Given the description of an element on the screen output the (x, y) to click on. 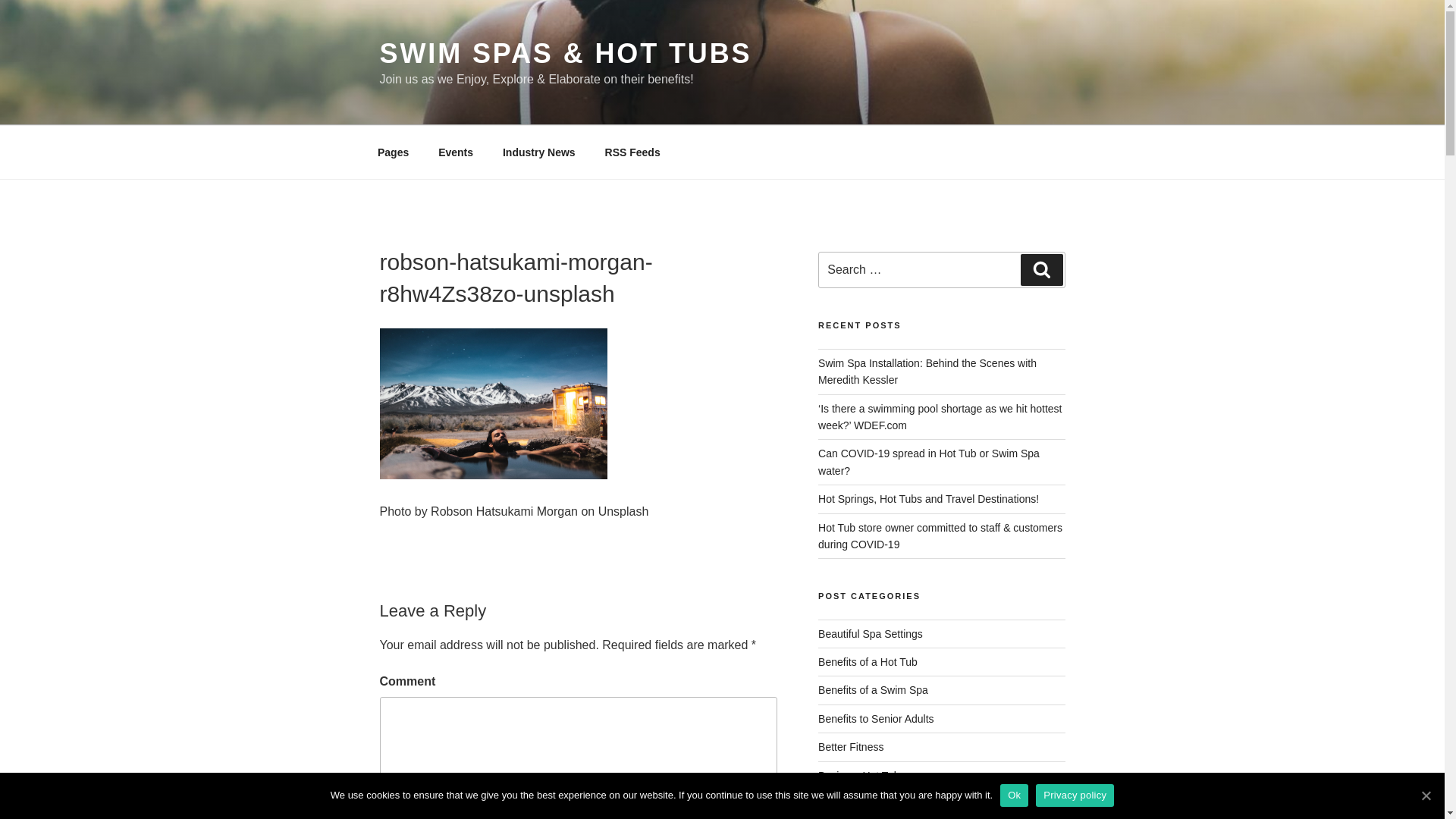
Better Fitness (850, 746)
Benefits of a Hot Tub (867, 662)
Benefits of a Swim Spa (873, 689)
Can COVID-19 spread in Hot Tub or Swim Spa water? (928, 461)
Benefits to Senior Adults (876, 718)
Search (1041, 269)
Buying a Hot Tub (858, 775)
Pages (393, 151)
Hot Springs, Hot Tubs and Travel Destinations! (928, 499)
RSS Feeds (631, 151)
Events (455, 151)
Beautiful Spa Settings (870, 633)
Industry News (538, 151)
